Given the description of an element on the screen output the (x, y) to click on. 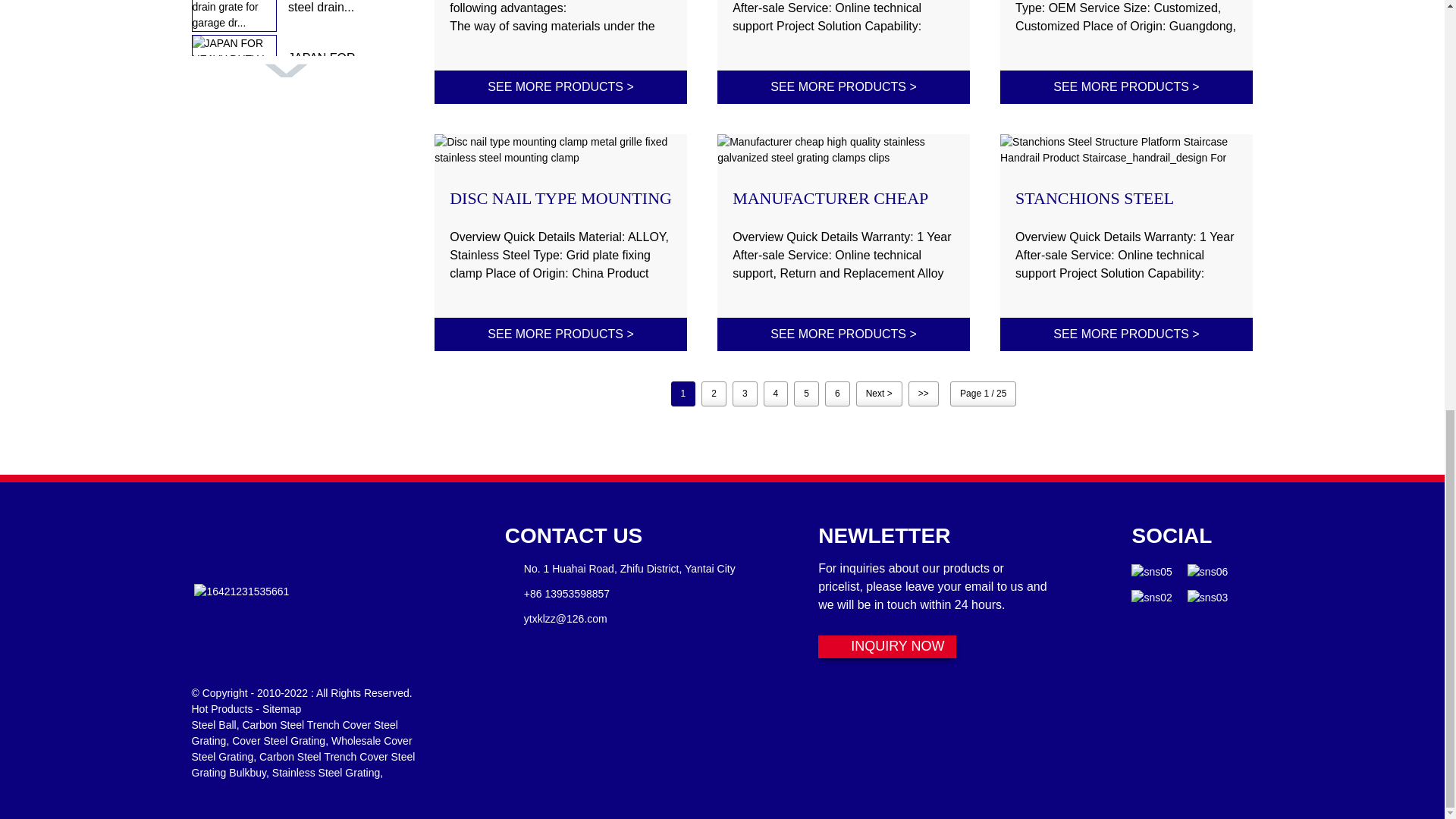
The Last Page (923, 393)
Cover Steel Grating (277, 740)
Stainless Steel Grating (326, 772)
Wholesale Cover Steel Grating (301, 748)
Steel Ball (212, 725)
Carbon Steel Trench Cover Steel Grating (293, 732)
Carbon Steel Trench Cover Steel Grating Bulkbuy (302, 764)
